Given the description of an element on the screen output the (x, y) to click on. 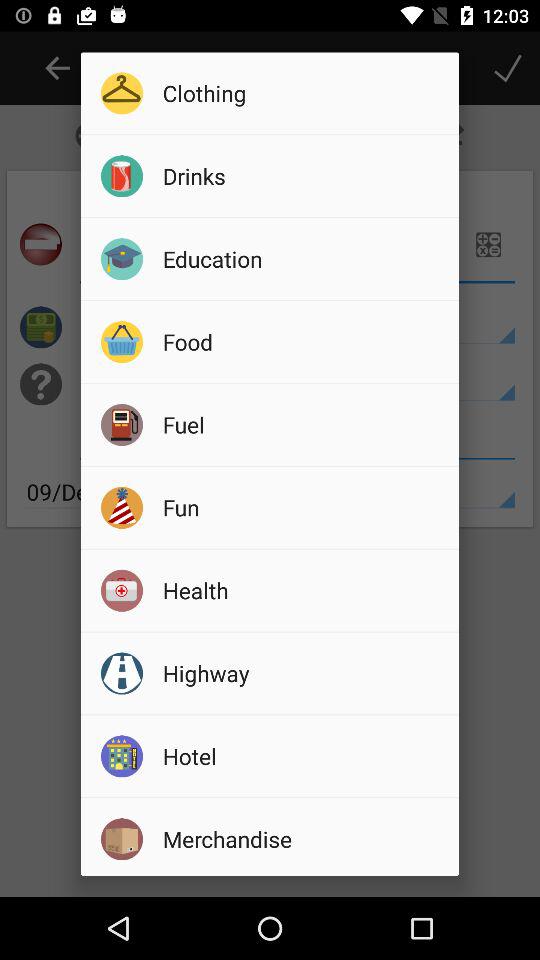
choose item below the food icon (303, 424)
